Given the description of an element on the screen output the (x, y) to click on. 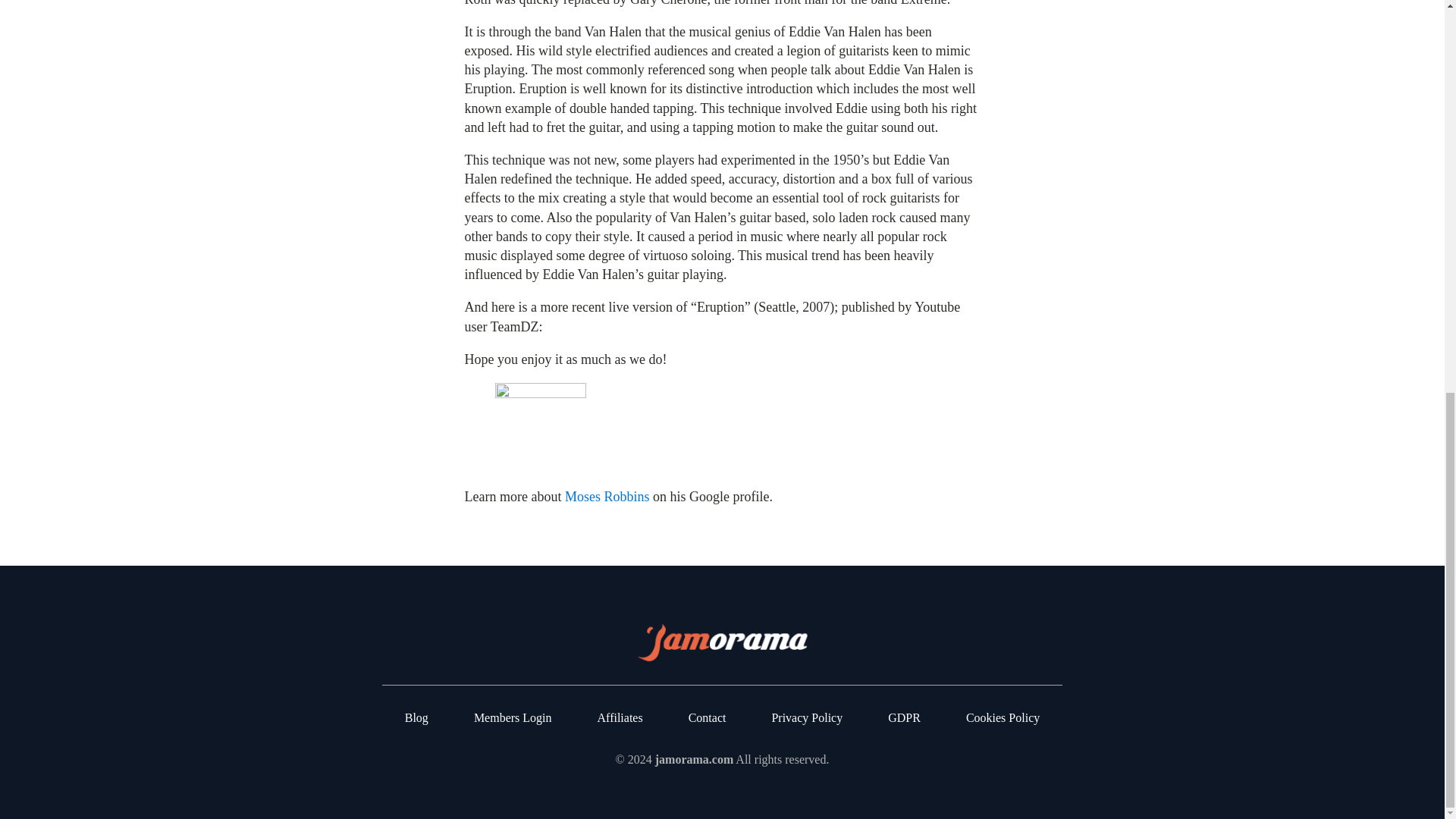
Members Login (512, 717)
Affiliates (619, 717)
Privacy Policy (807, 717)
GDPR (904, 717)
Moses Robbins (606, 496)
Cookies Policy (1002, 717)
Blog (416, 717)
Contact (707, 717)
